Given the description of an element on the screen output the (x, y) to click on. 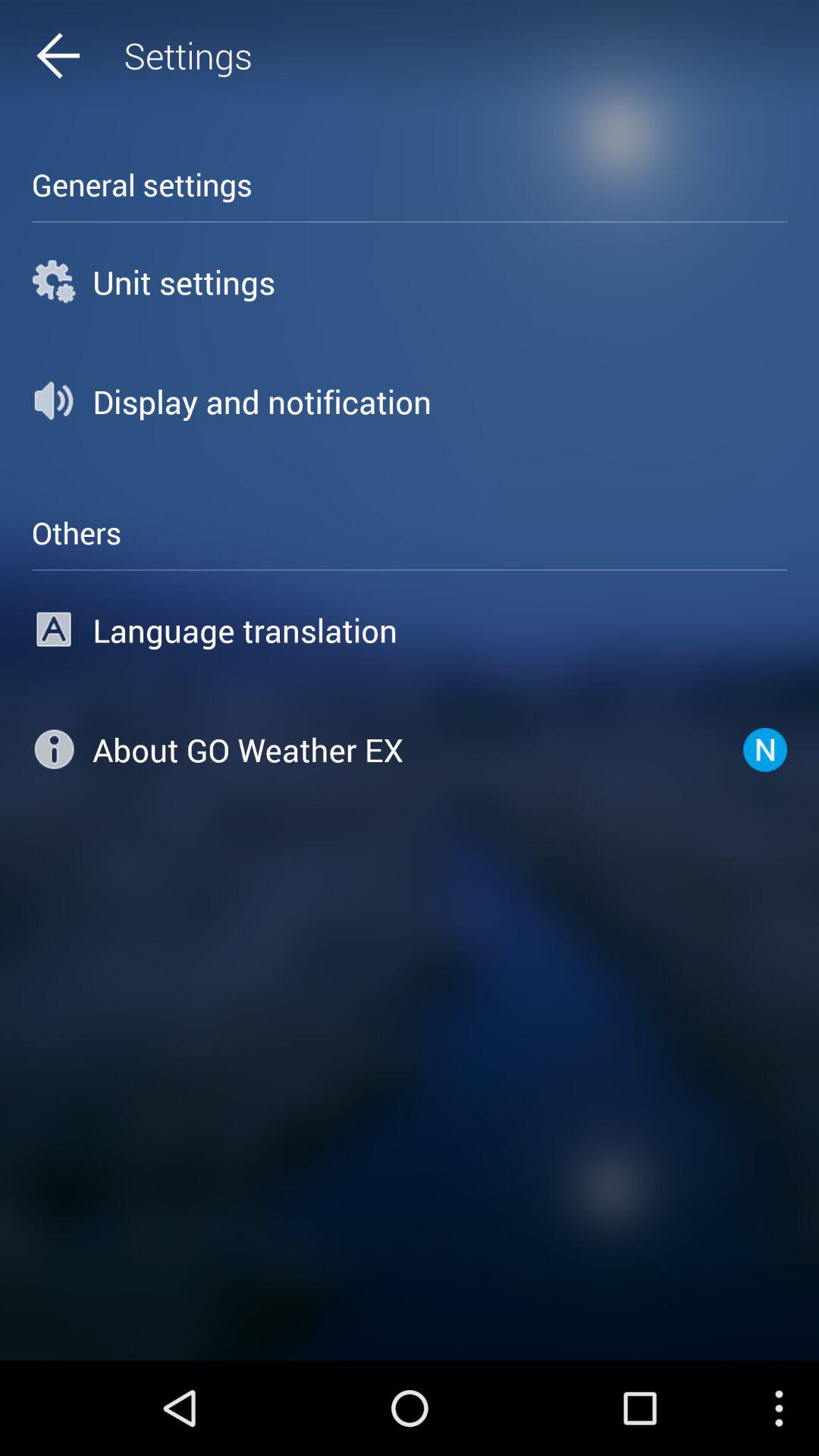
press the item below general settings icon (409, 281)
